Given the description of an element on the screen output the (x, y) to click on. 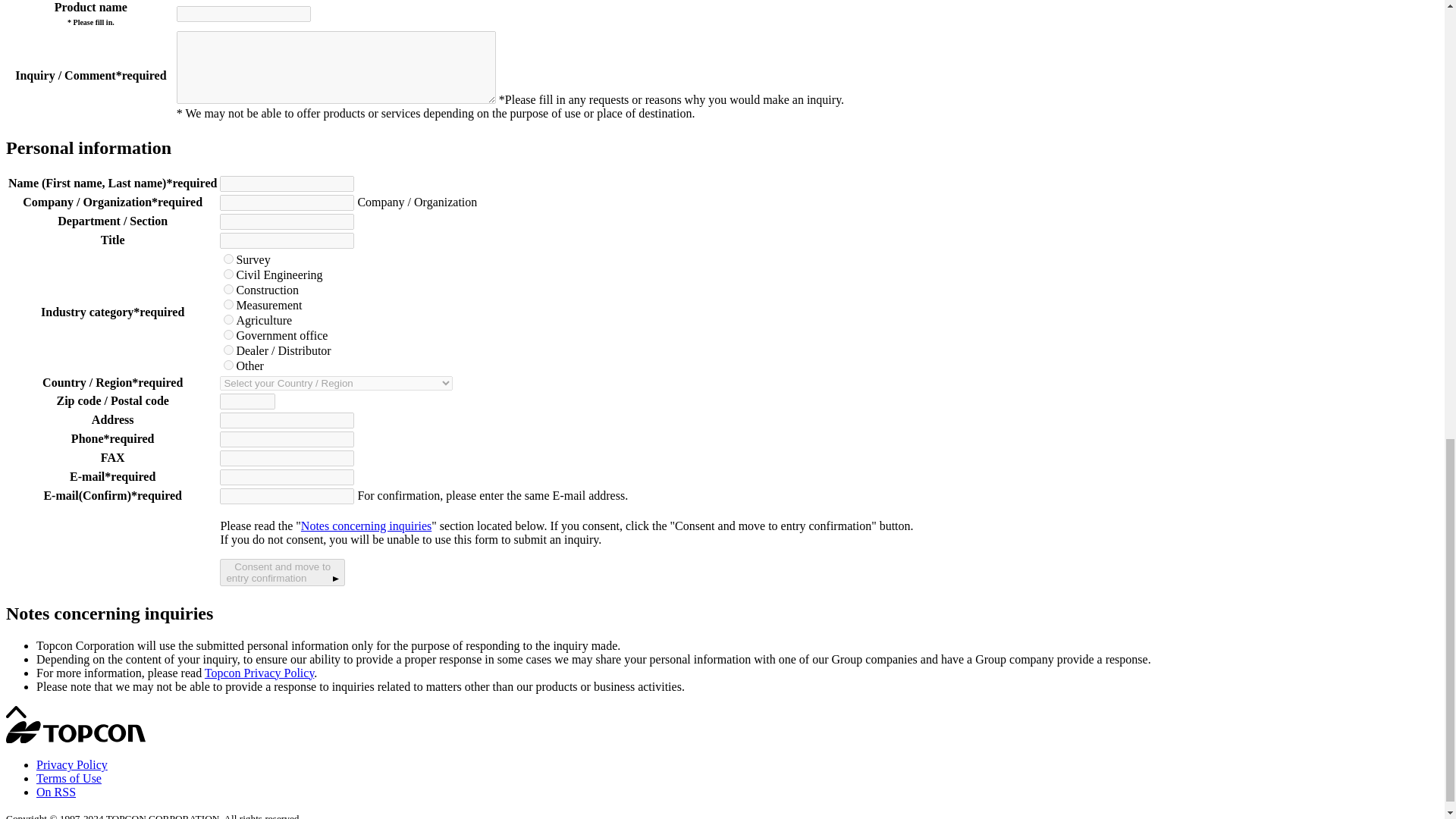
On RSS (55, 791)
Notes concerning inquiries (365, 525)
Agriculture (228, 319)
Civil Engineering (228, 274)
Topcon Privacy Policy (259, 672)
Measurement (228, 304)
Government office (228, 334)
Construction (228, 289)
Privacy Policy (71, 764)
Notes concerning inquiries (365, 525)
Terms of Use (68, 778)
Survey (282, 572)
